Given the description of an element on the screen output the (x, y) to click on. 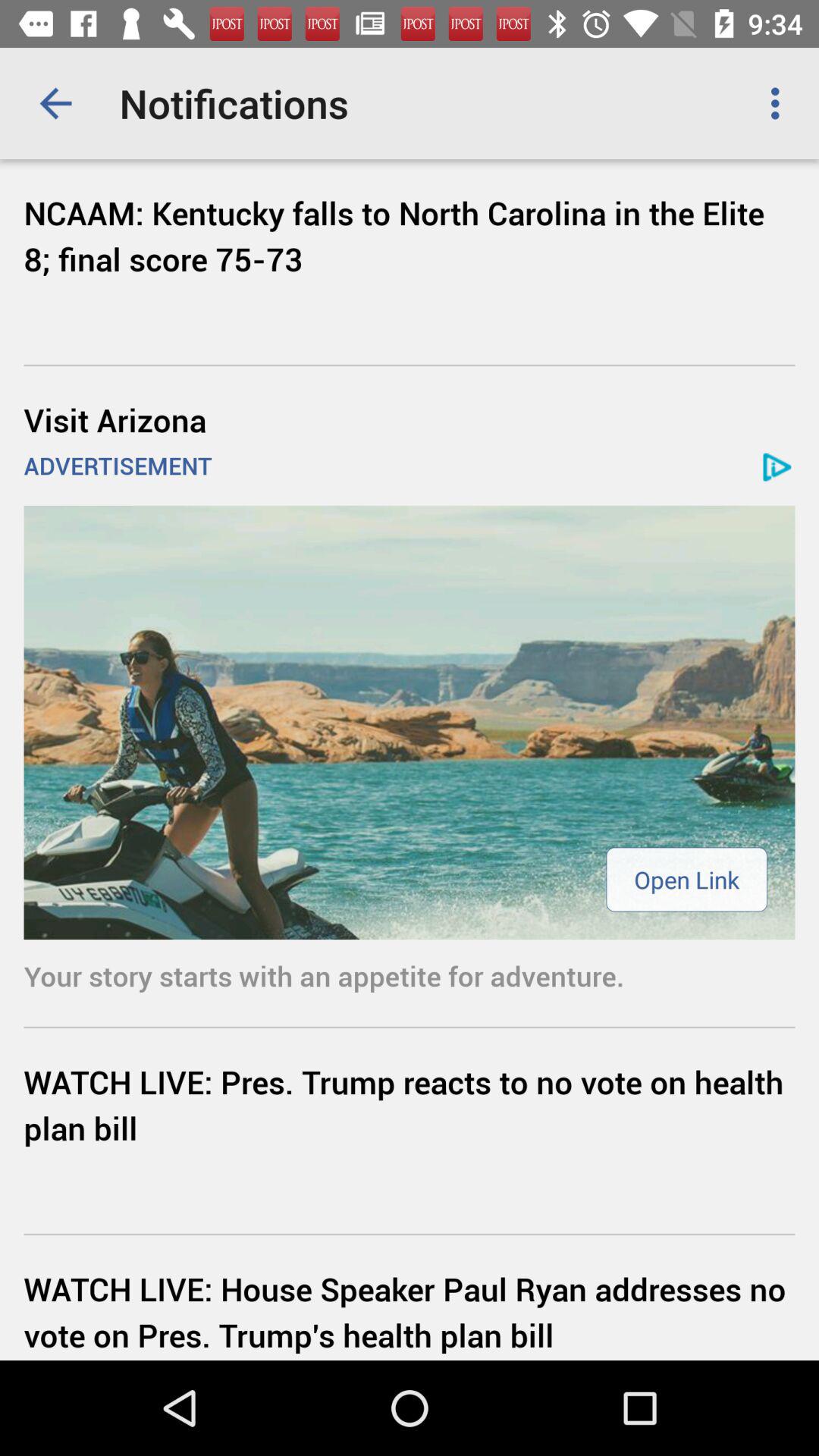
press your story starts (409, 975)
